Given the description of an element on the screen output the (x, y) to click on. 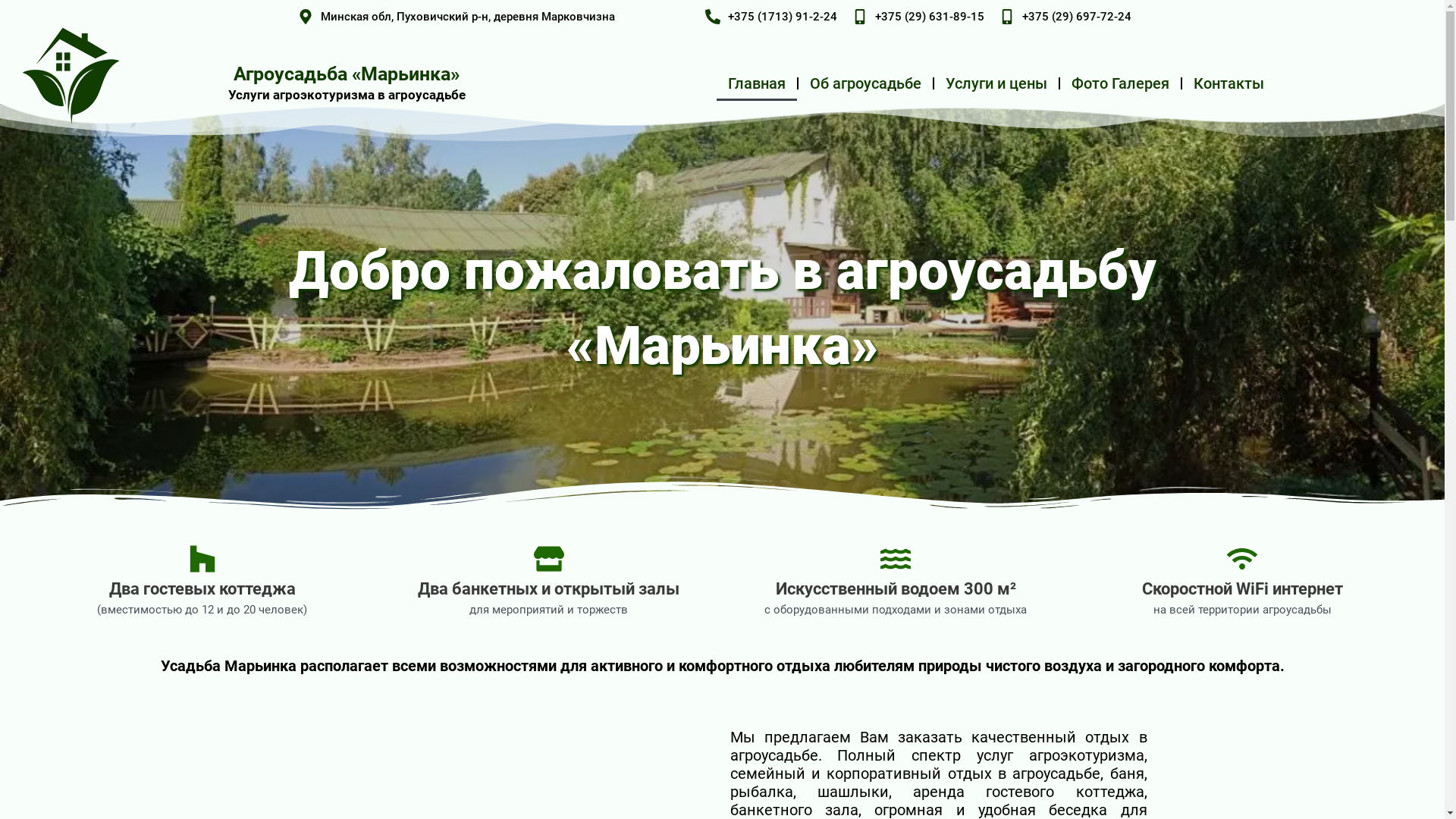
+375 (1713) 91-2-24 Element type: text (771, 16)
+375 (29) 697-72-24 Element type: text (1065, 16)
+375 (29) 631-89-15 Element type: text (918, 16)
